Given the description of an element on the screen output the (x, y) to click on. 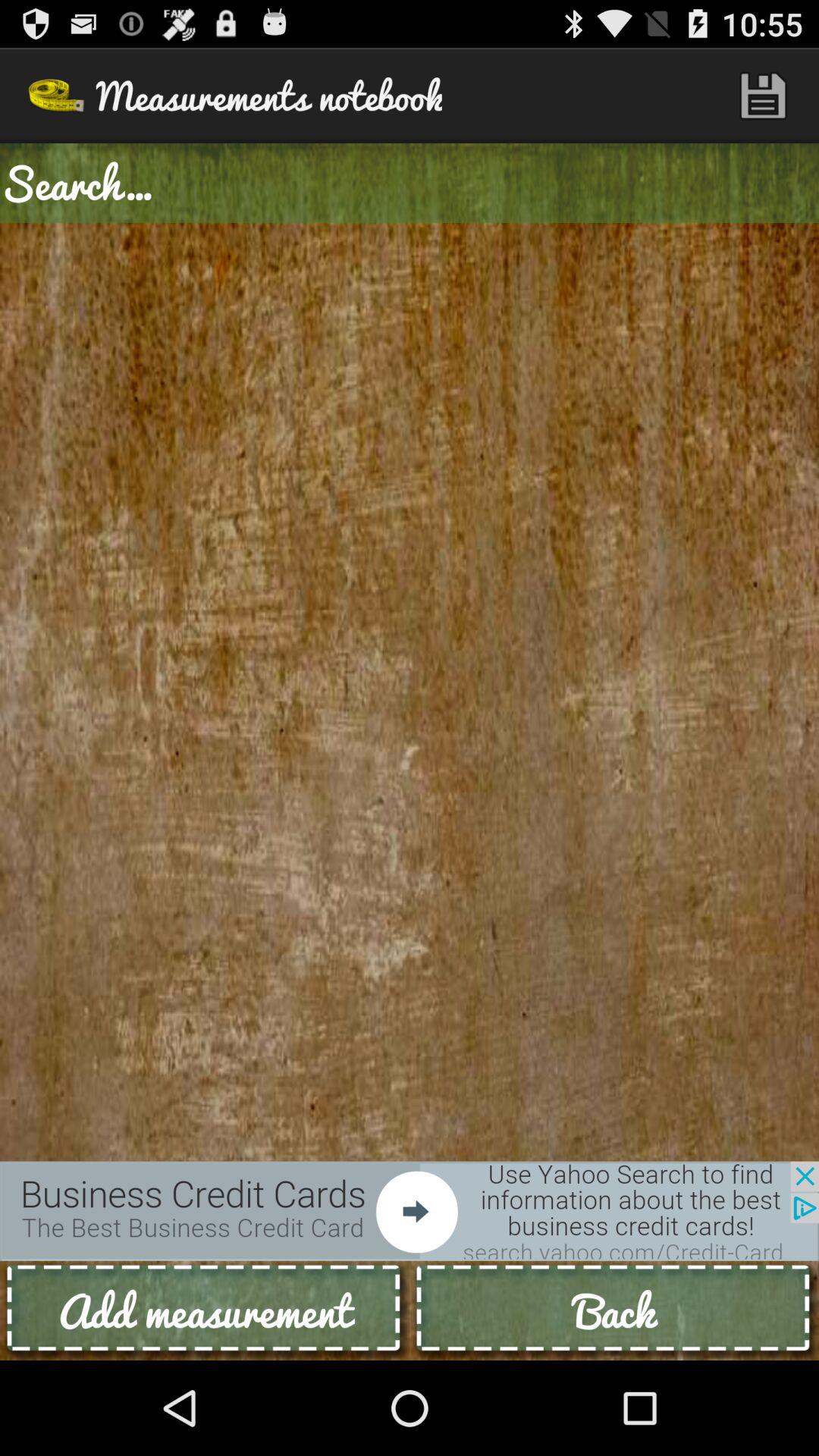
go to search (409, 182)
